Given the description of an element on the screen output the (x, y) to click on. 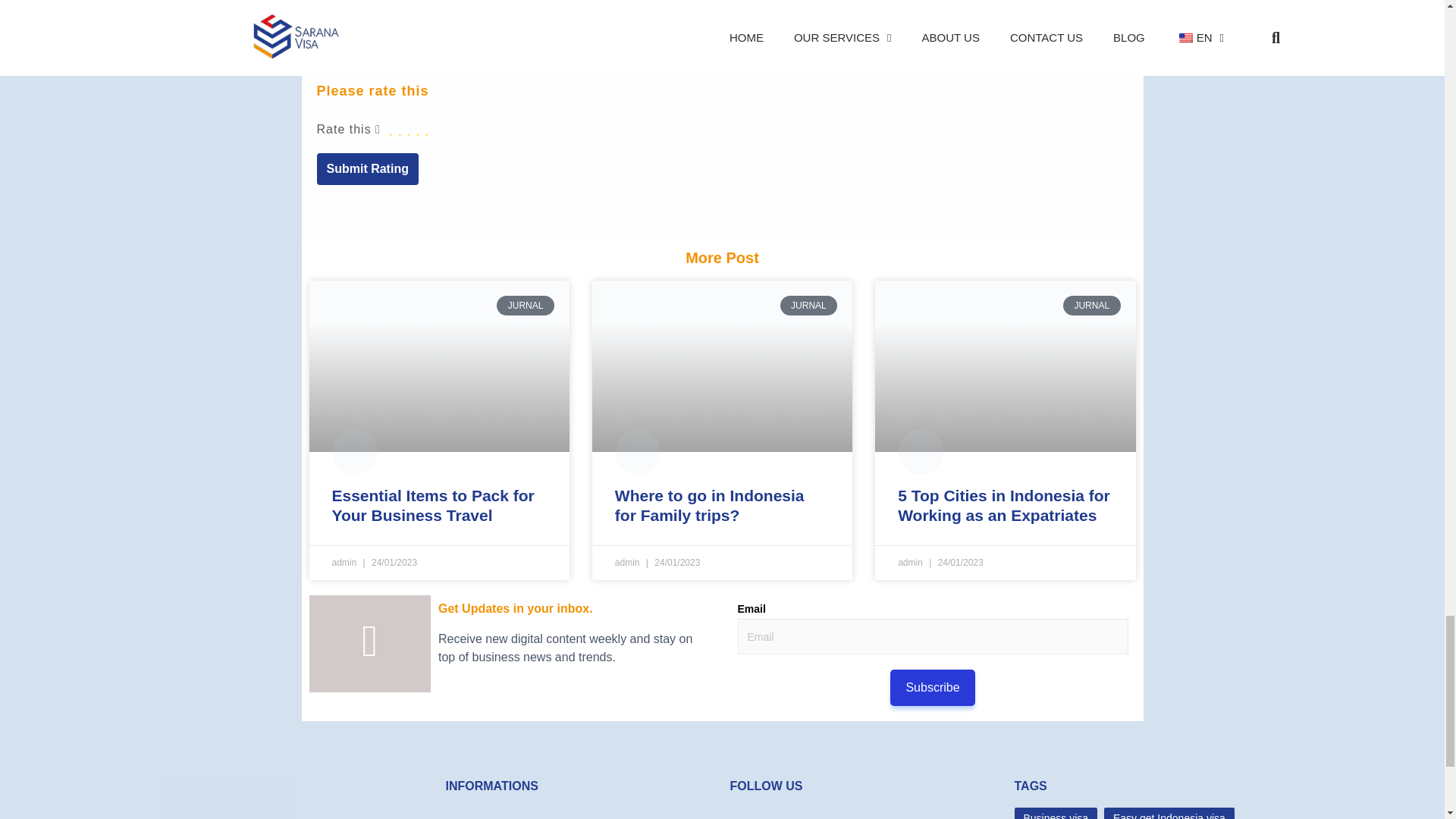
Submit Rating (368, 169)
